Given the description of an element on the screen output the (x, y) to click on. 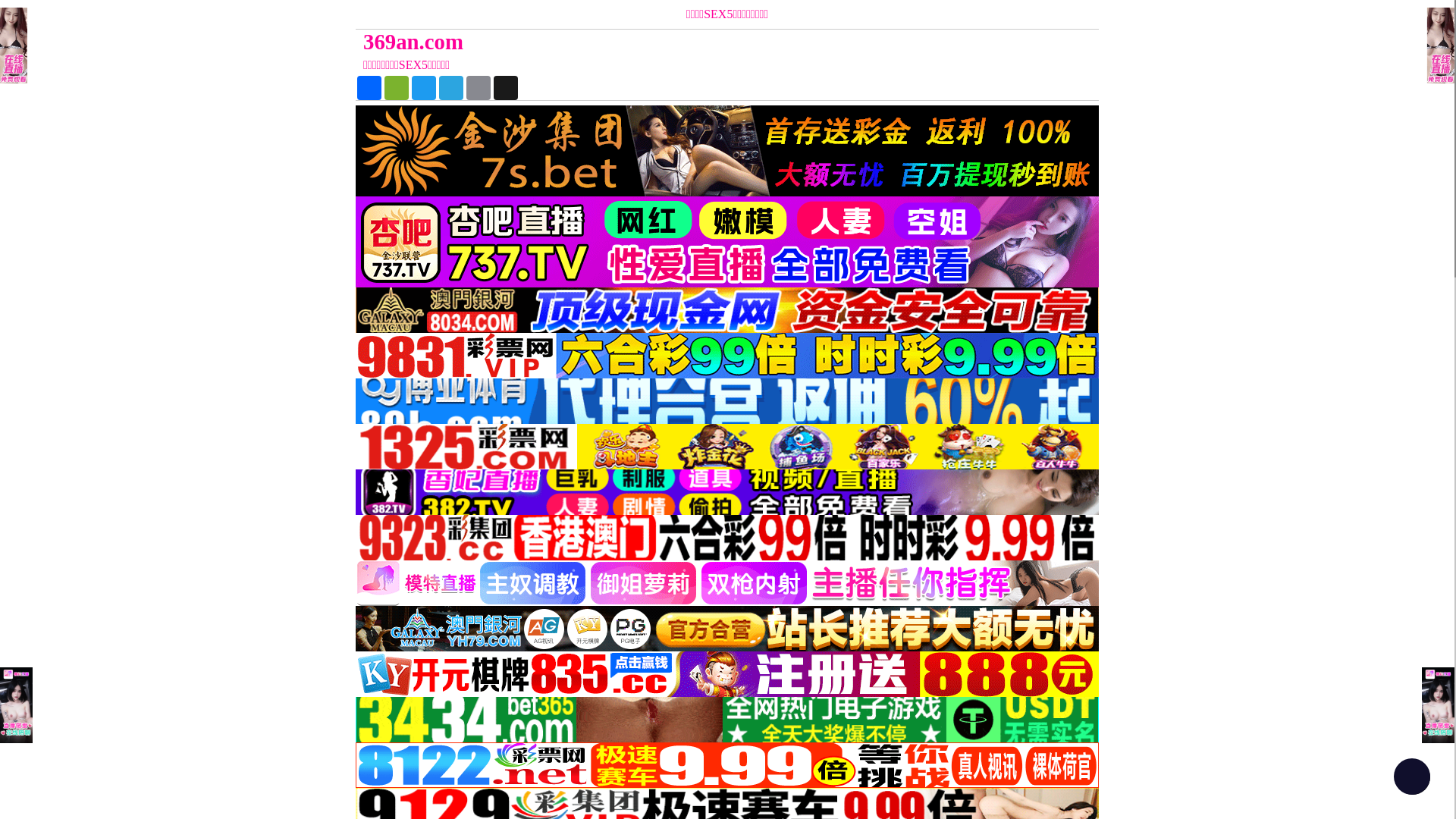
Twitter Element type: text (423, 87)
Telegram Element type: text (450, 87)
X Element type: text (505, 87)
WeChat Element type: text (396, 87)
369an.com Element type: text (634, 41)
Copy Link Element type: text (478, 87)
